Given the description of an element on the screen output the (x, y) to click on. 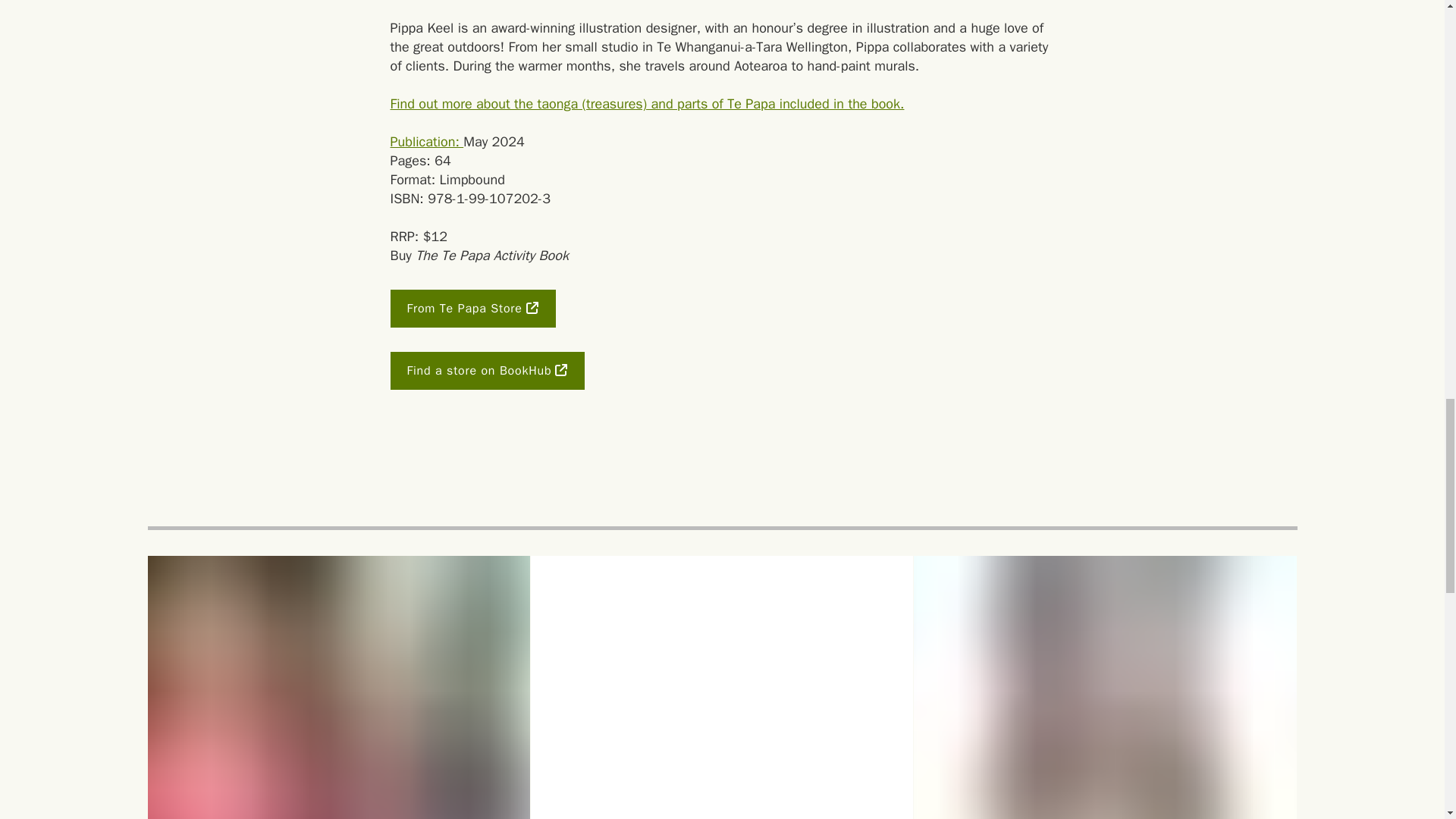
From Te Papa Store (472, 308)
Publication:  (426, 141)
Find a store on BookHub (487, 370)
